Given the description of an element on the screen output the (x, y) to click on. 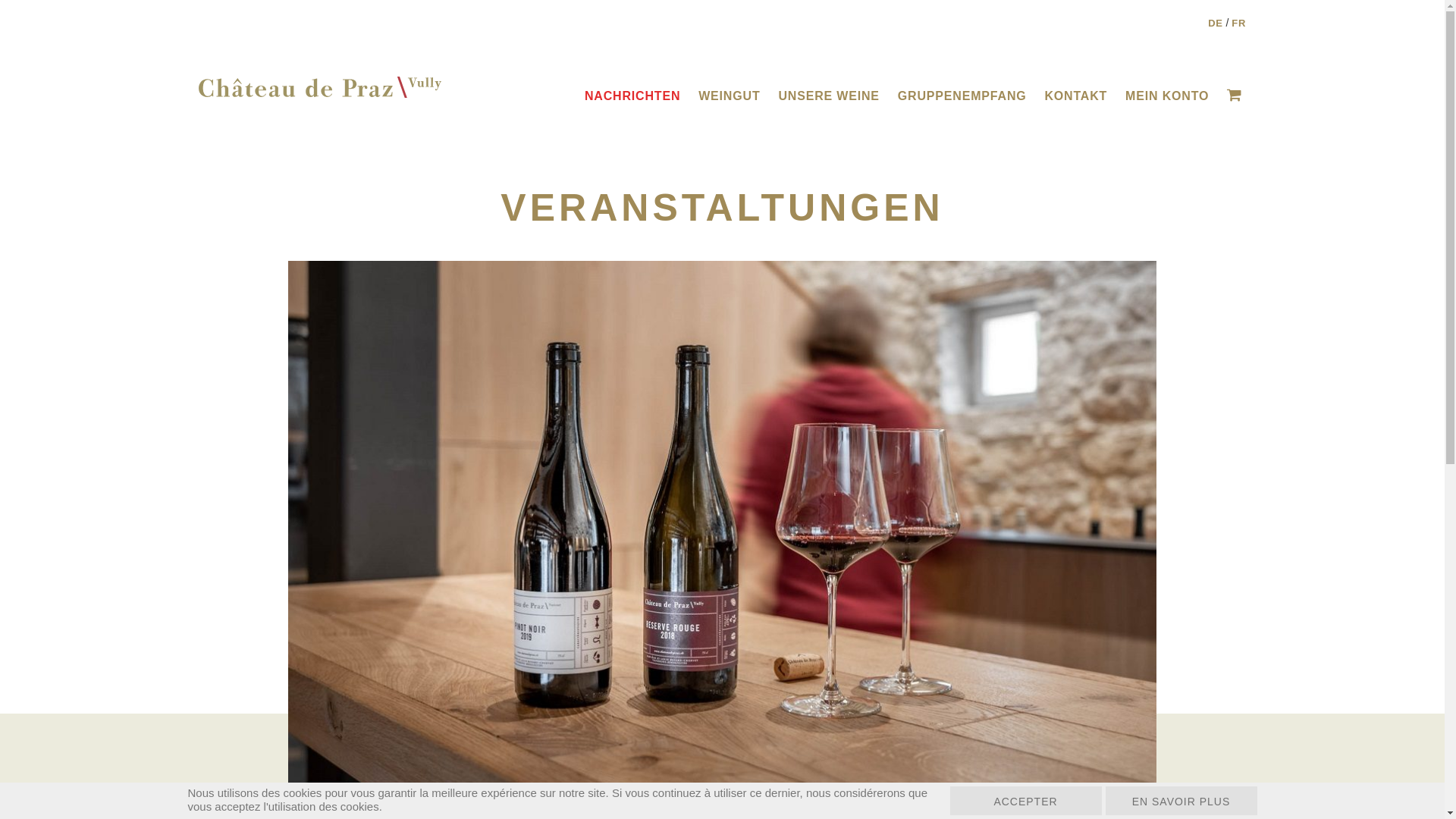
ACCEPTER Element type: text (1025, 800)
FR Element type: text (1238, 22)
NACHRICHTEN Element type: text (632, 95)
KONTAKT Element type: text (1075, 95)
UNSERE WEINE Element type: text (828, 95)
WEINGUT Element type: text (728, 95)
Zum Shop Element type: hover (1235, 95)
MEIN KONTO Element type: text (1166, 95)
GRUPPENEMPFANG Element type: text (961, 95)
EN SAVOIR PLUS Element type: text (1181, 800)
